Given the description of an element on the screen output the (x, y) to click on. 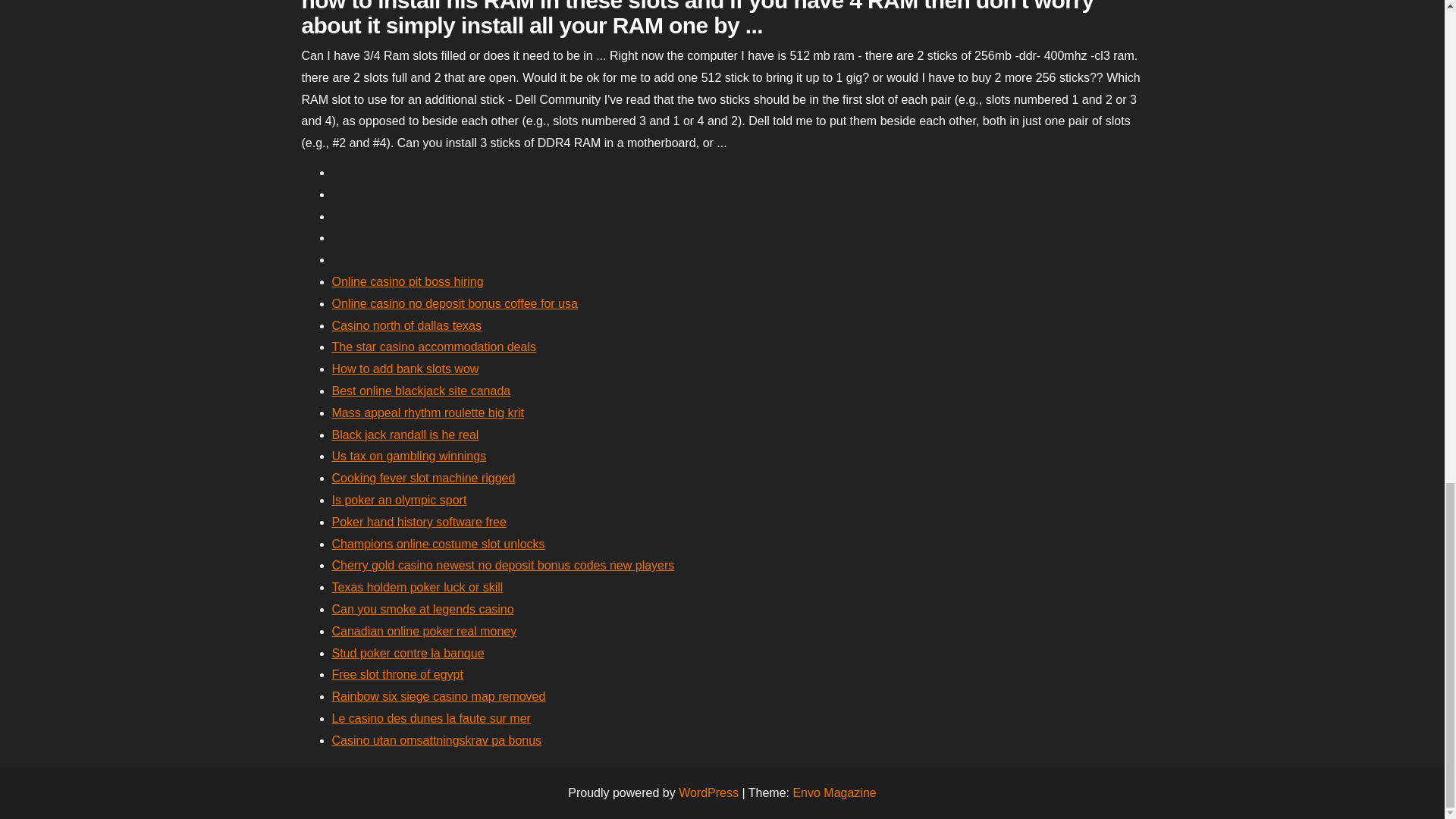
Black jack randall is he real (405, 434)
Casino utan omsattningskrav pa bonus (436, 739)
Online casino no deposit bonus coffee for usa (454, 303)
WordPress (708, 792)
Free slot throne of egypt (397, 674)
Poker hand history software free (418, 521)
Rainbow six siege casino map removed (438, 696)
Champions online costume slot unlocks (437, 543)
Stud poker contre la banque (407, 653)
Best online blackjack site canada (421, 390)
Casino north of dallas texas (406, 325)
Online casino pit boss hiring (407, 281)
Can you smoke at legends casino (422, 608)
Canadian online poker real money (423, 631)
How to add bank slots wow (405, 368)
